Given the description of an element on the screen output the (x, y) to click on. 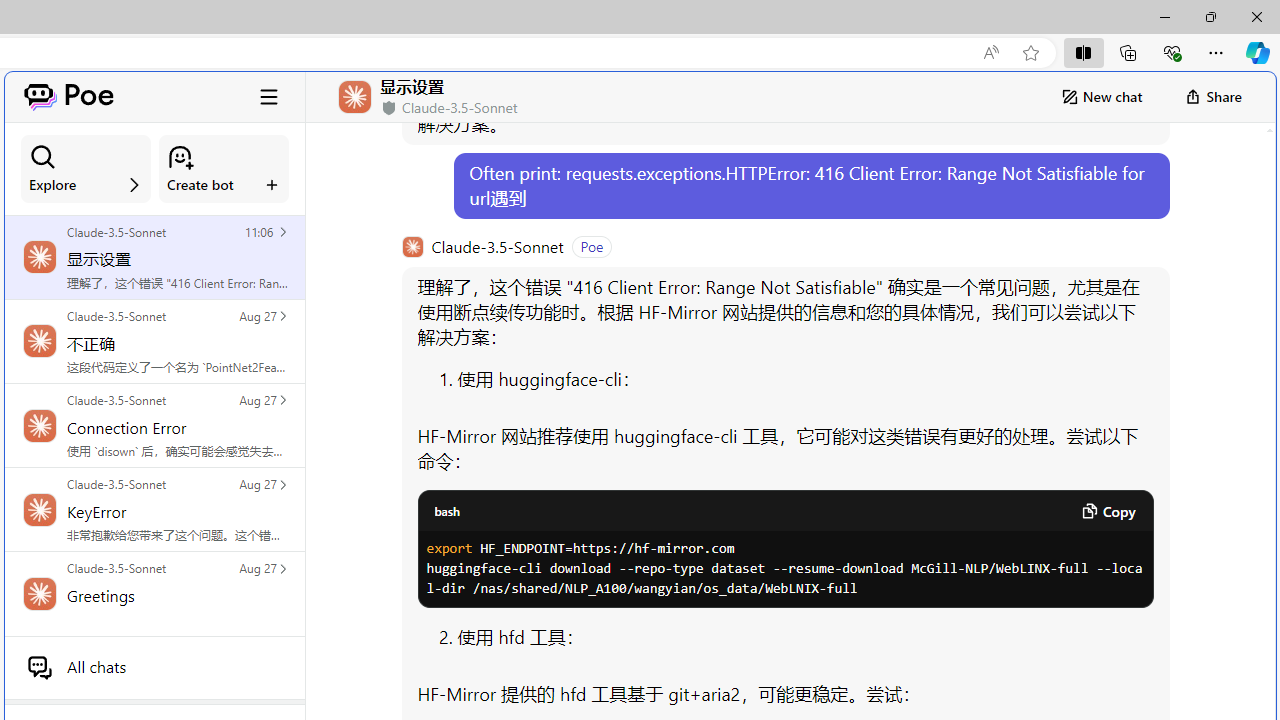
Class: ManageBotsCardSection_createBotIcon__9JUYg (180, 157)
Toggle sidebar collapse (269, 96)
Class: ManageBotsCardSection_labelIcon__EjW_j (271, 183)
Bot image for Claude-3.5-Sonnet (411, 246)
Share (1213, 96)
Class: ManageBotsCardSection_searchIcon__laGLi (43, 157)
Class: ChatHistoryListItem_chevronIcon__zJZSN (282, 568)
Explore (85, 169)
